Given the description of an element on the screen output the (x, y) to click on. 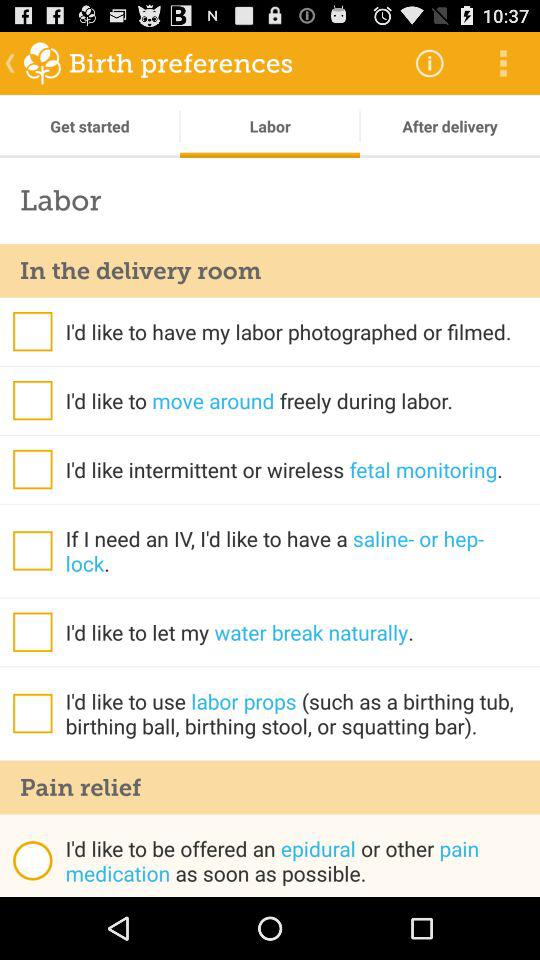
launch app above the i d like item (270, 787)
